Given the description of an element on the screen output the (x, y) to click on. 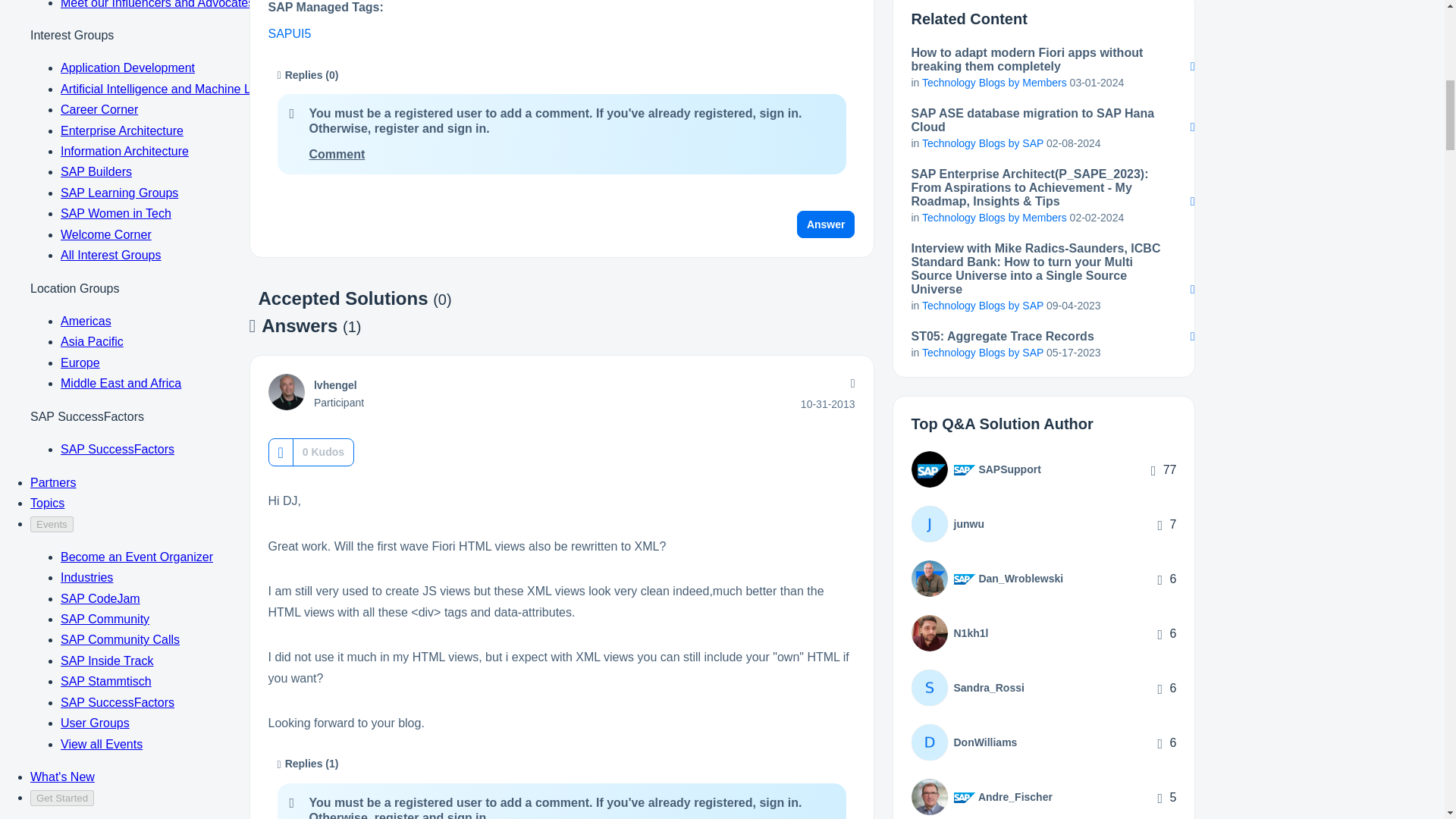
Answer (826, 224)
Comment (336, 154)
SAPUI5 (289, 33)
lvhengel (335, 385)
lvhengel (285, 391)
